Given the description of an element on the screen output the (x, y) to click on. 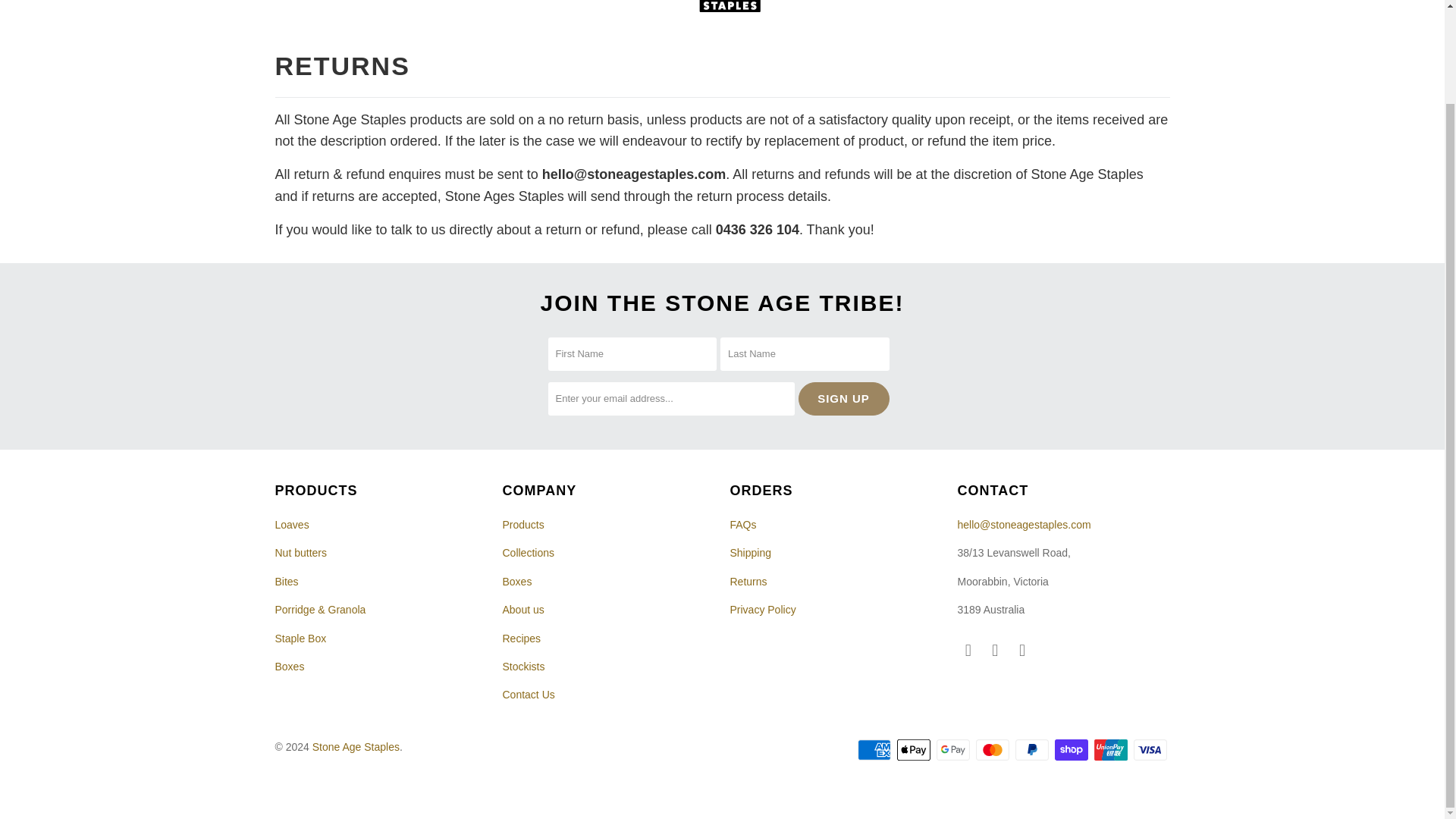
Google Pay (954, 749)
Stone Age Staples on Instagram (995, 650)
Shop Pay (1072, 749)
Visa (1150, 749)
Sign Up (842, 398)
Stone Age Staples (729, 10)
Apple Pay (914, 749)
Stone Age Staples on Facebook (967, 650)
Mastercard (993, 749)
Email Stone Age Staples (1022, 650)
